Given the description of an element on the screen output the (x, y) to click on. 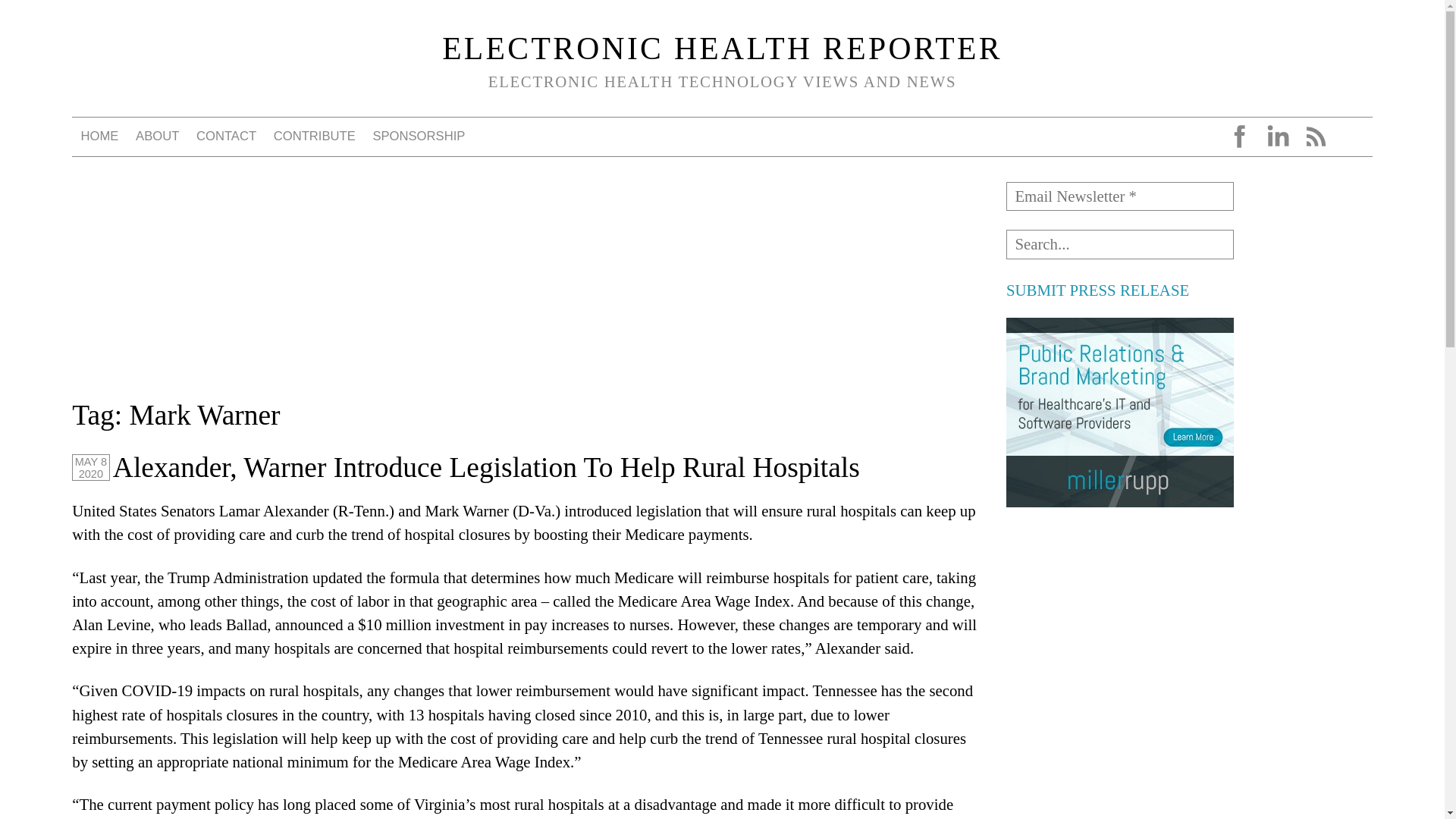
Email Newsletter (1119, 195)
May 8, 2020 5:31 pm (90, 467)
Advertisement (1119, 780)
RSS FEED (1315, 136)
CONTRIBUTE (313, 136)
HOME (99, 136)
Subscribe (48, 16)
SPONSORSHIP (418, 136)
